Given the description of an element on the screen output the (x, y) to click on. 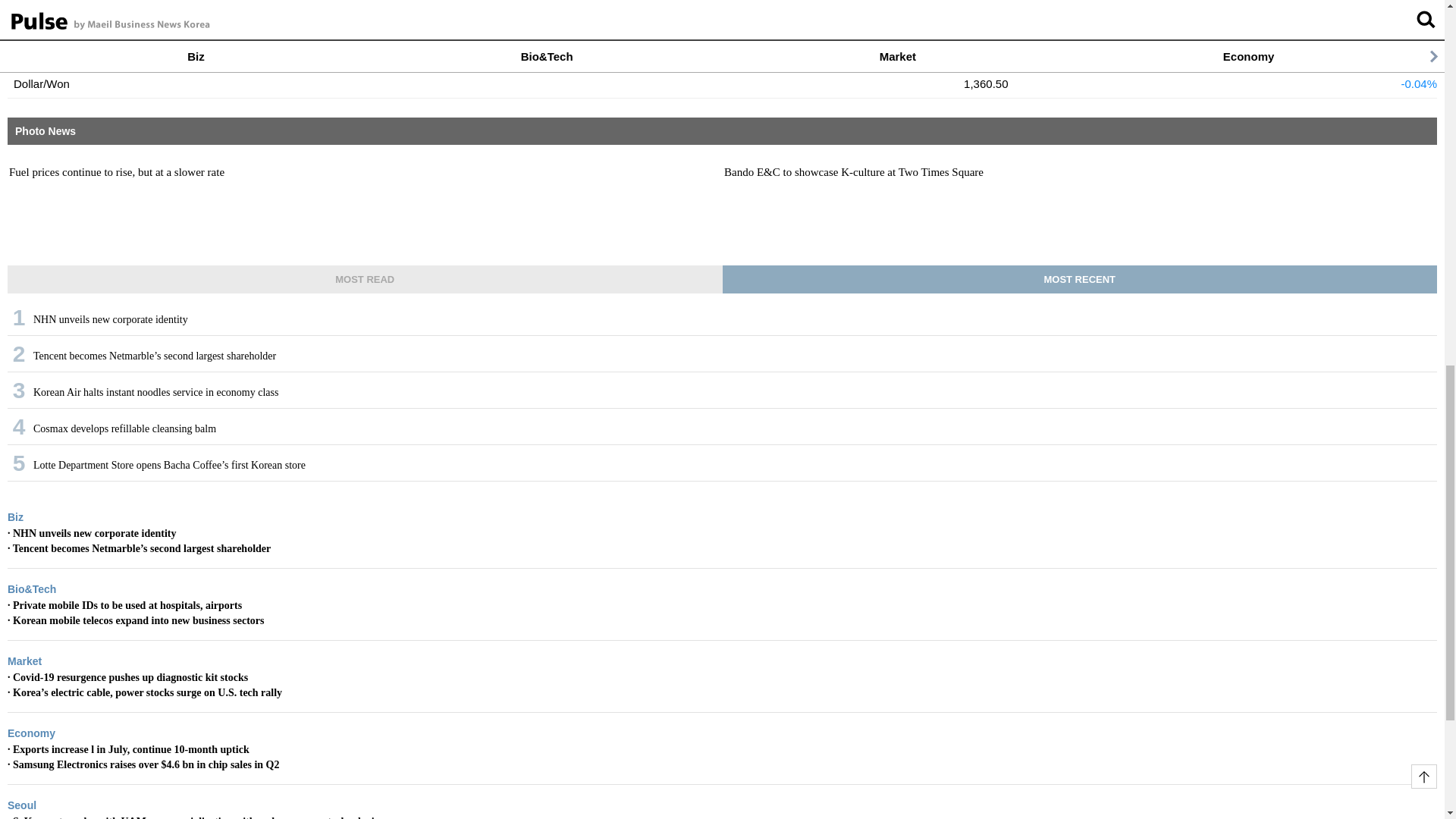
Fuel prices continue to rise, but at a slower rate (364, 171)
Markets (31, 2)
